Given the description of an element on the screen output the (x, y) to click on. 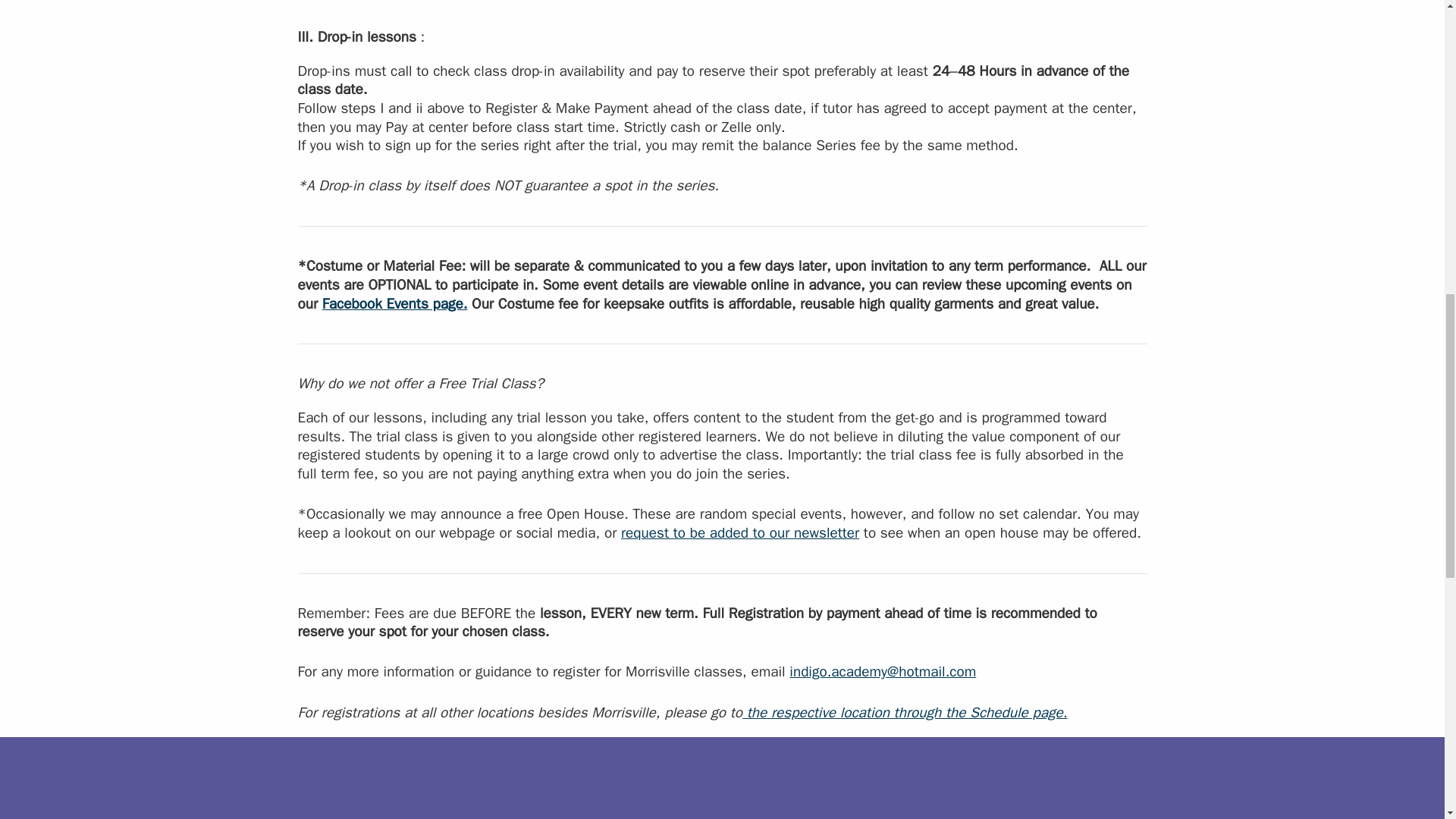
 the respective location through the Schedule page. (904, 712)
Facebook Events page. (394, 303)
request to be added to our newsletter (740, 533)
